Given the description of an element on the screen output the (x, y) to click on. 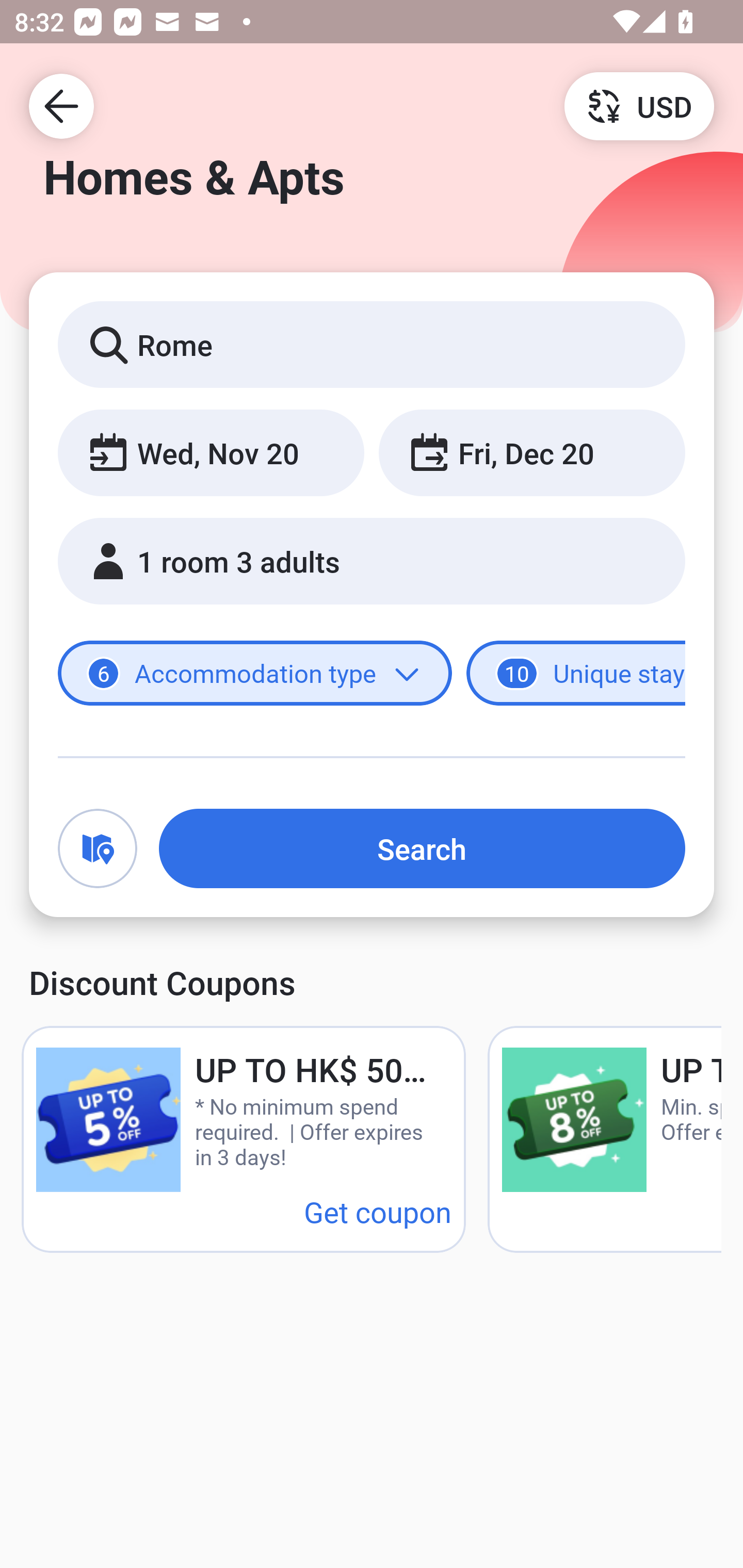
USD (639, 105)
Rome (371, 344)
Wed, Nov 20 (210, 452)
Fri, Dec 20 (531, 452)
1 room 3 adults (371, 561)
6 Accommodation type (254, 673)
10 Unique stays (575, 673)
Search (422, 848)
Get coupon (377, 1211)
